Given the description of an element on the screen output the (x, y) to click on. 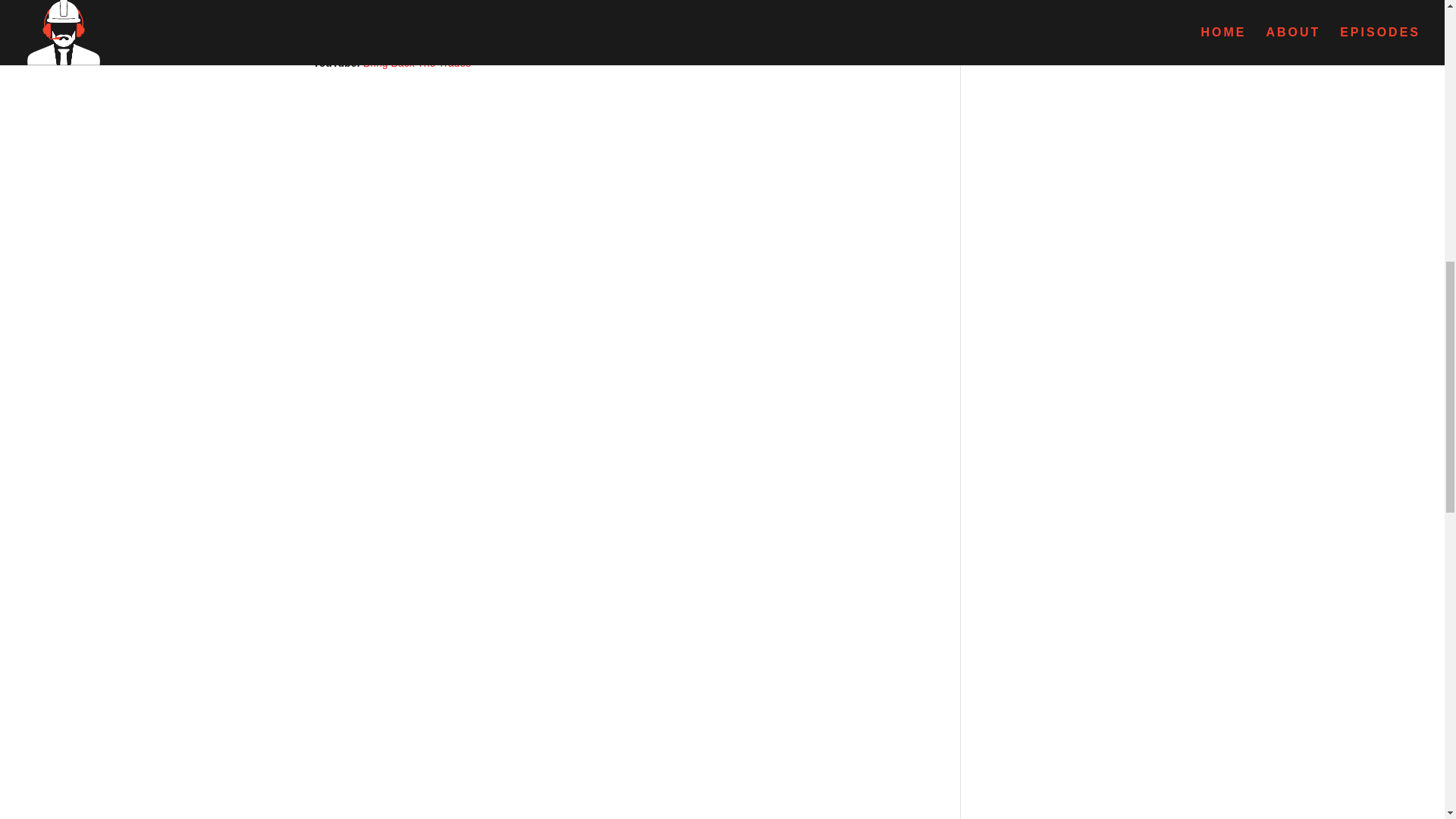
Bring Back The Trades (416, 62)
Bring Back The Trades LinkedIn (437, 9)
Bring Back The Trades (423, 44)
Bring Back The Trades (422, 26)
